Given the description of an element on the screen output the (x, y) to click on. 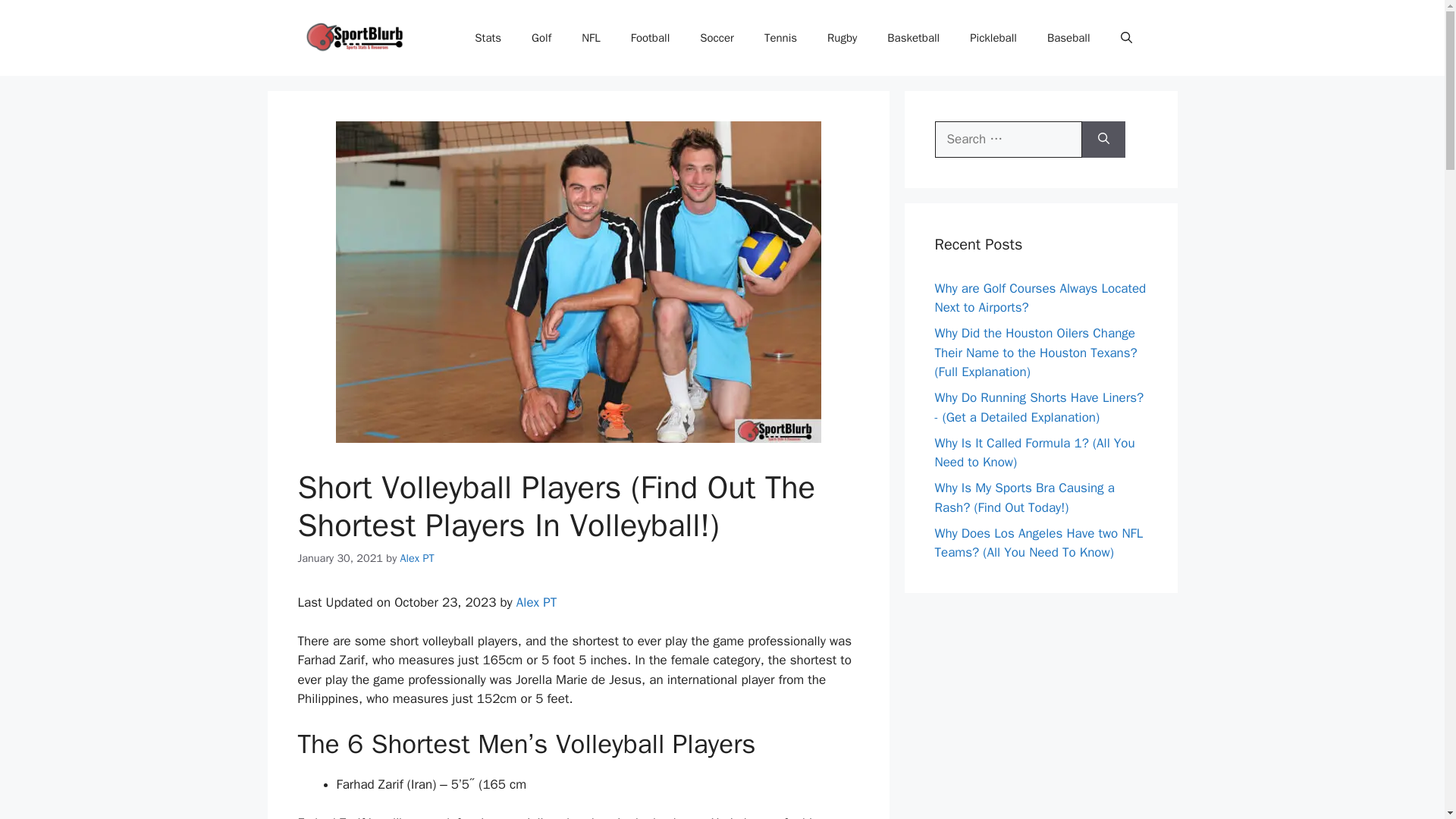
Soccer (716, 37)
Pickleball (993, 37)
Search for: (1007, 139)
Basketball (913, 37)
Baseball (1068, 37)
Alex PT (416, 558)
View all posts by Alex PT (416, 558)
Rugby (842, 37)
Alex PT (536, 602)
NFL (590, 37)
